Given the description of an element on the screen output the (x, y) to click on. 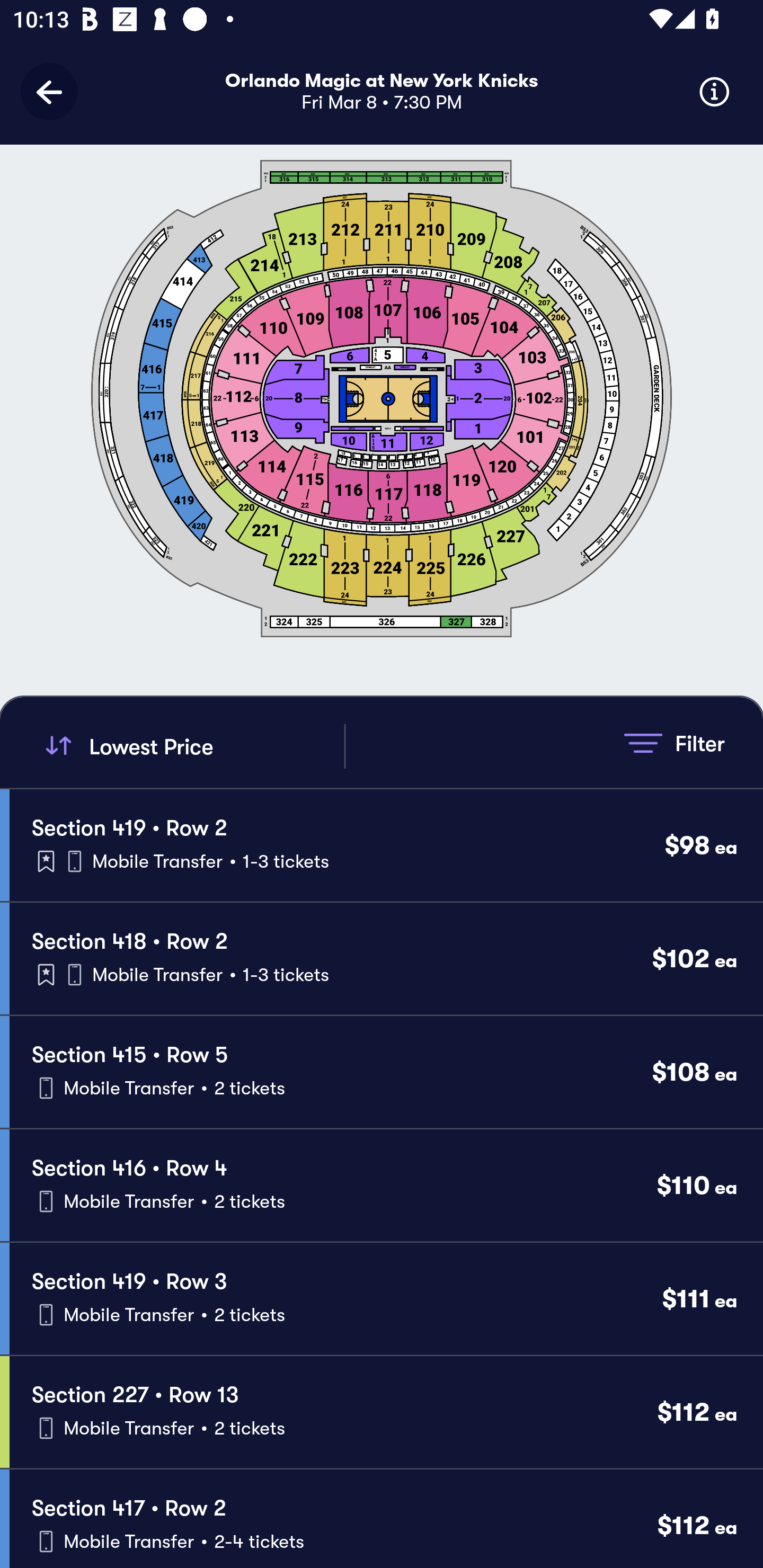
Lowest Price (191, 746)
Filter (674, 743)
